Given the description of an element on the screen output the (x, y) to click on. 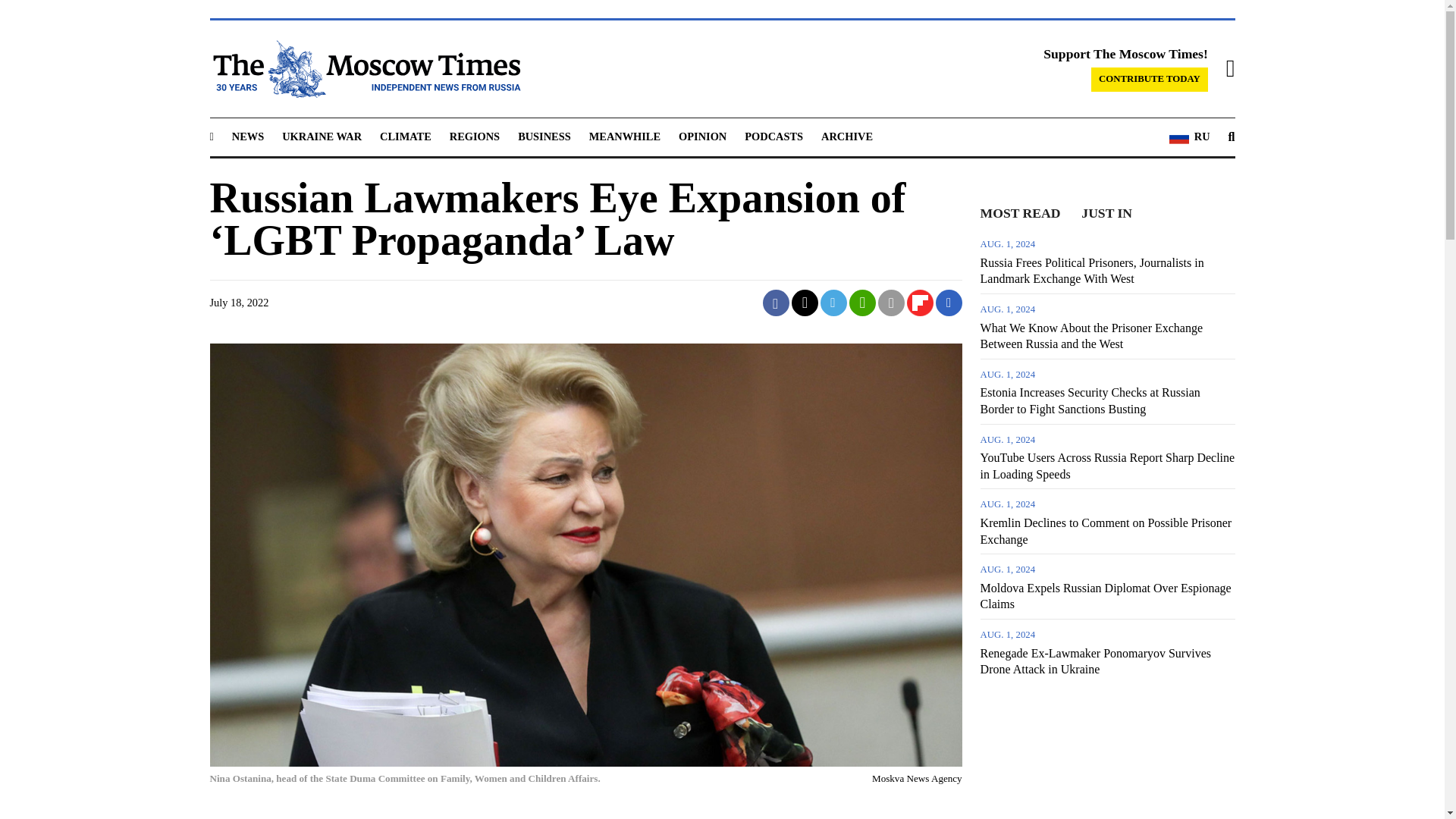
CLIMATE (405, 136)
UKRAINE WAR (321, 136)
Share on Flipboard (920, 302)
Share on Telegram (834, 302)
Share on Twitter (805, 302)
BUSINESS (544, 136)
The Moscow Times - Independent News from Russia (364, 68)
RU (1189, 137)
NEWS (247, 136)
REGIONS (474, 136)
